Given the description of an element on the screen output the (x, y) to click on. 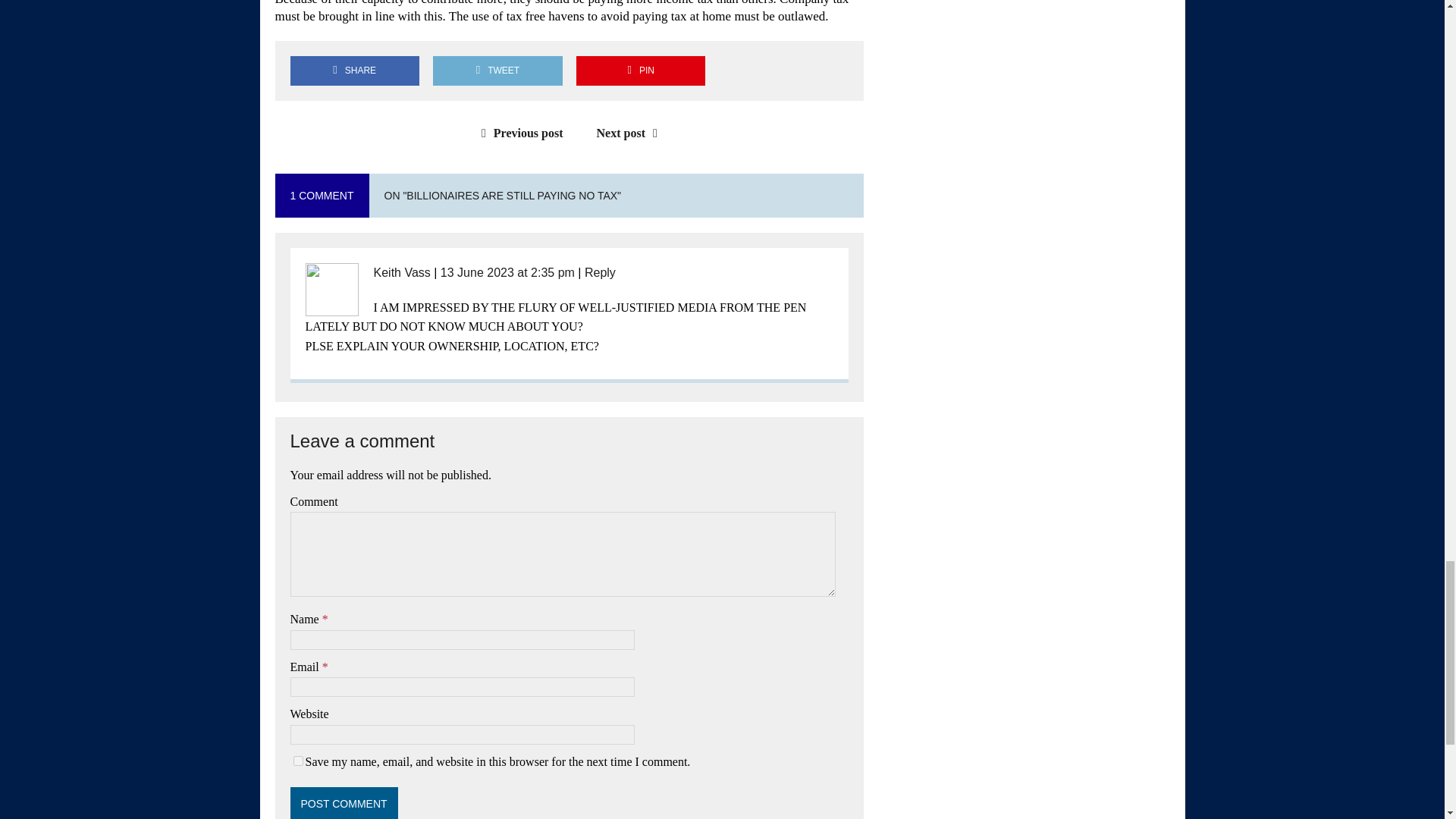
Tweet This Post (497, 70)
Share on Facebook (354, 70)
13 June 2023 at 2:35 pm (508, 272)
Previous post (518, 132)
TWEET (497, 70)
PIN (640, 70)
Reply (600, 272)
yes (297, 760)
Pin This Post (640, 70)
SHARE (354, 70)
Post Comment (343, 803)
Keith Vass (400, 272)
Post Comment (343, 803)
Next post (630, 132)
